Given the description of an element on the screen output the (x, y) to click on. 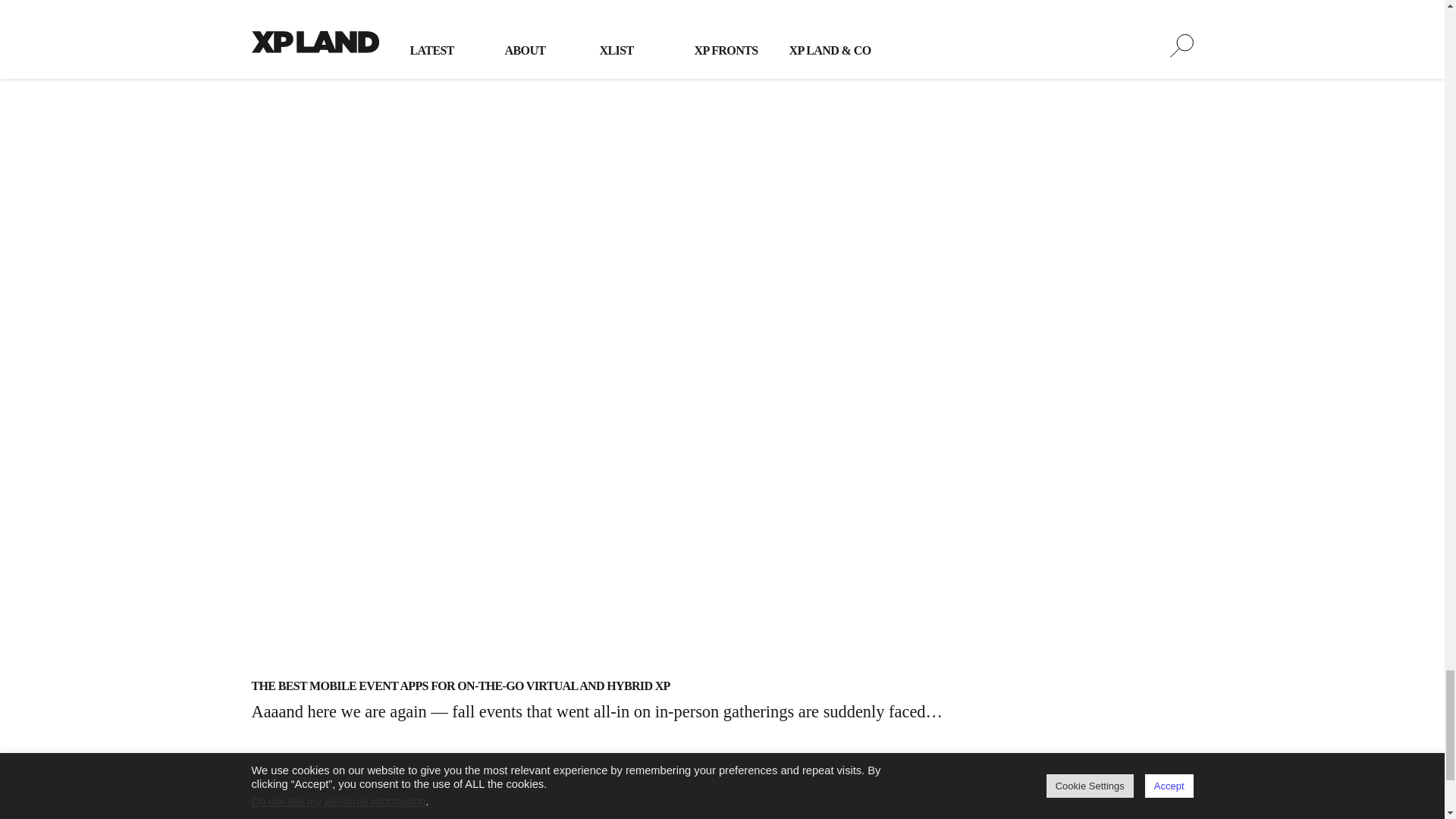
LATEST (682, 815)
Go to the XP Land home page (315, 815)
XP FRONTS (1093, 815)
XLIST (945, 815)
ABOUT (814, 815)
